Given the description of an element on the screen output the (x, y) to click on. 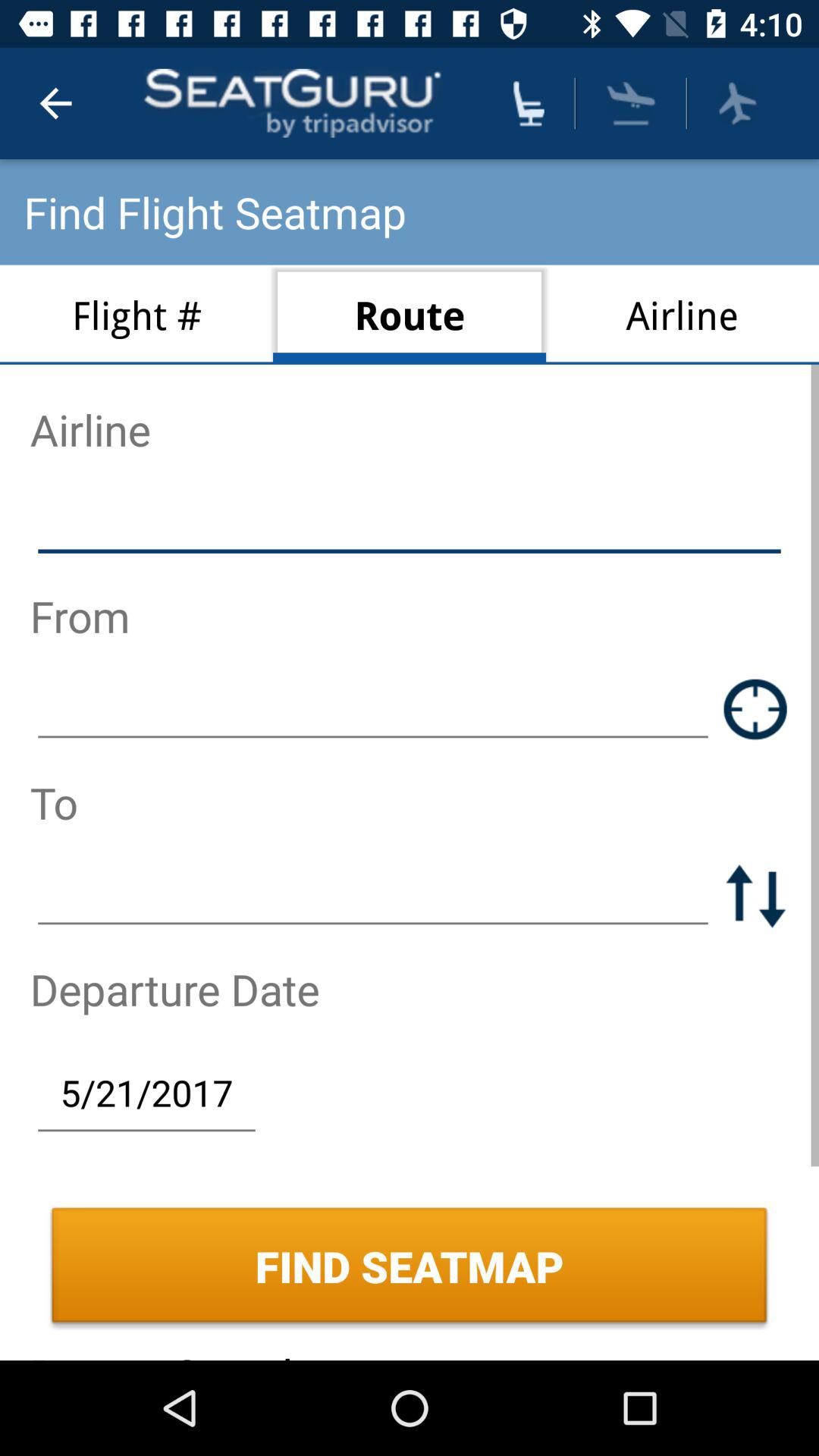
click 5/21/2017 icon (146, 1092)
